Given the description of an element on the screen output the (x, y) to click on. 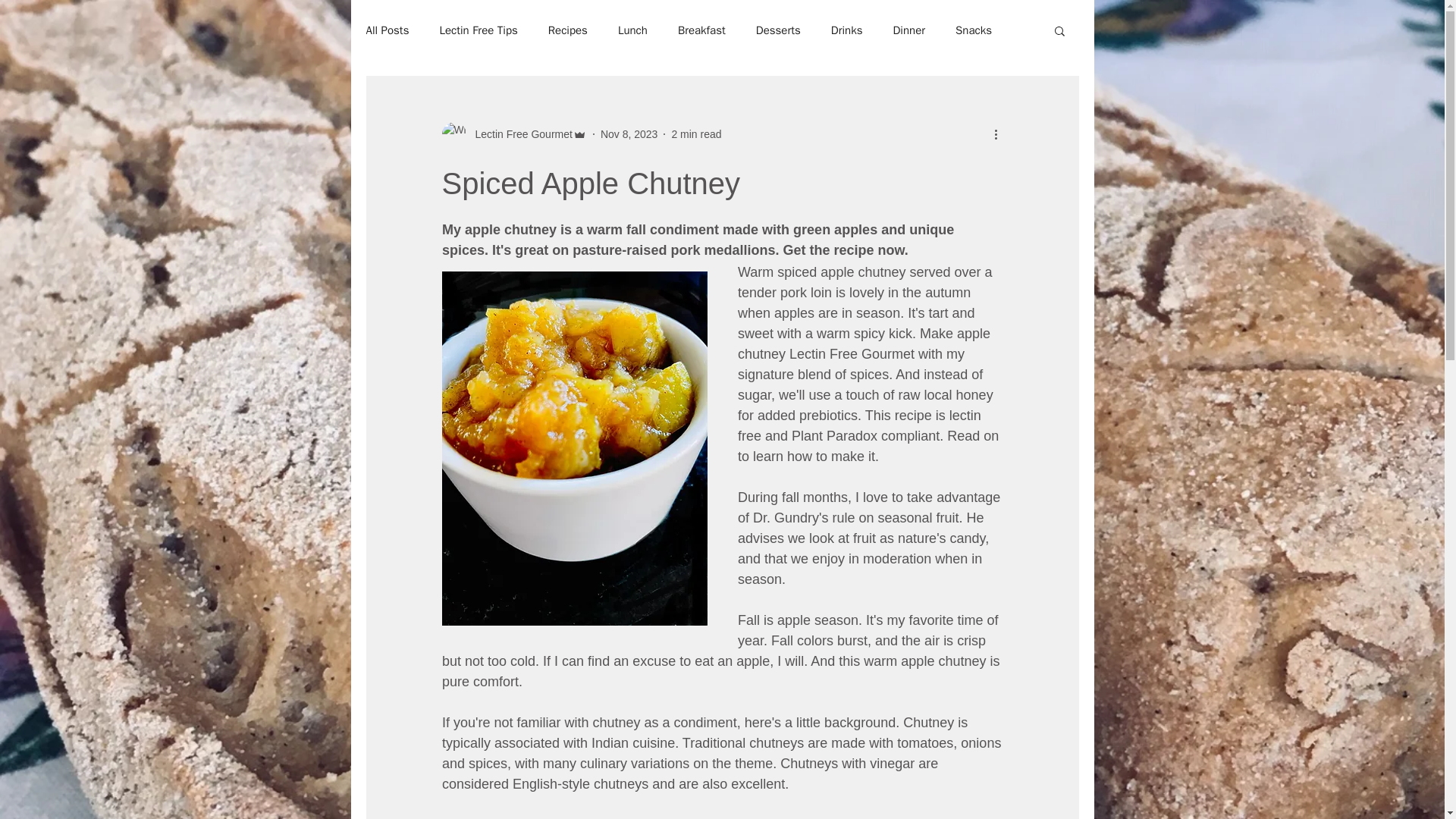
Snacks (973, 29)
Recipes (568, 29)
Desserts (777, 29)
Nov 8, 2023 (628, 133)
2 min read (695, 133)
Lunch (632, 29)
Lectin Free Gourmet (518, 133)
Lectin Free Tips (477, 29)
Breakfast (701, 29)
Dinner (908, 29)
Drinks (847, 29)
Lectin Free Gourmet (513, 134)
All Posts (387, 29)
